Given the description of an element on the screen output the (x, y) to click on. 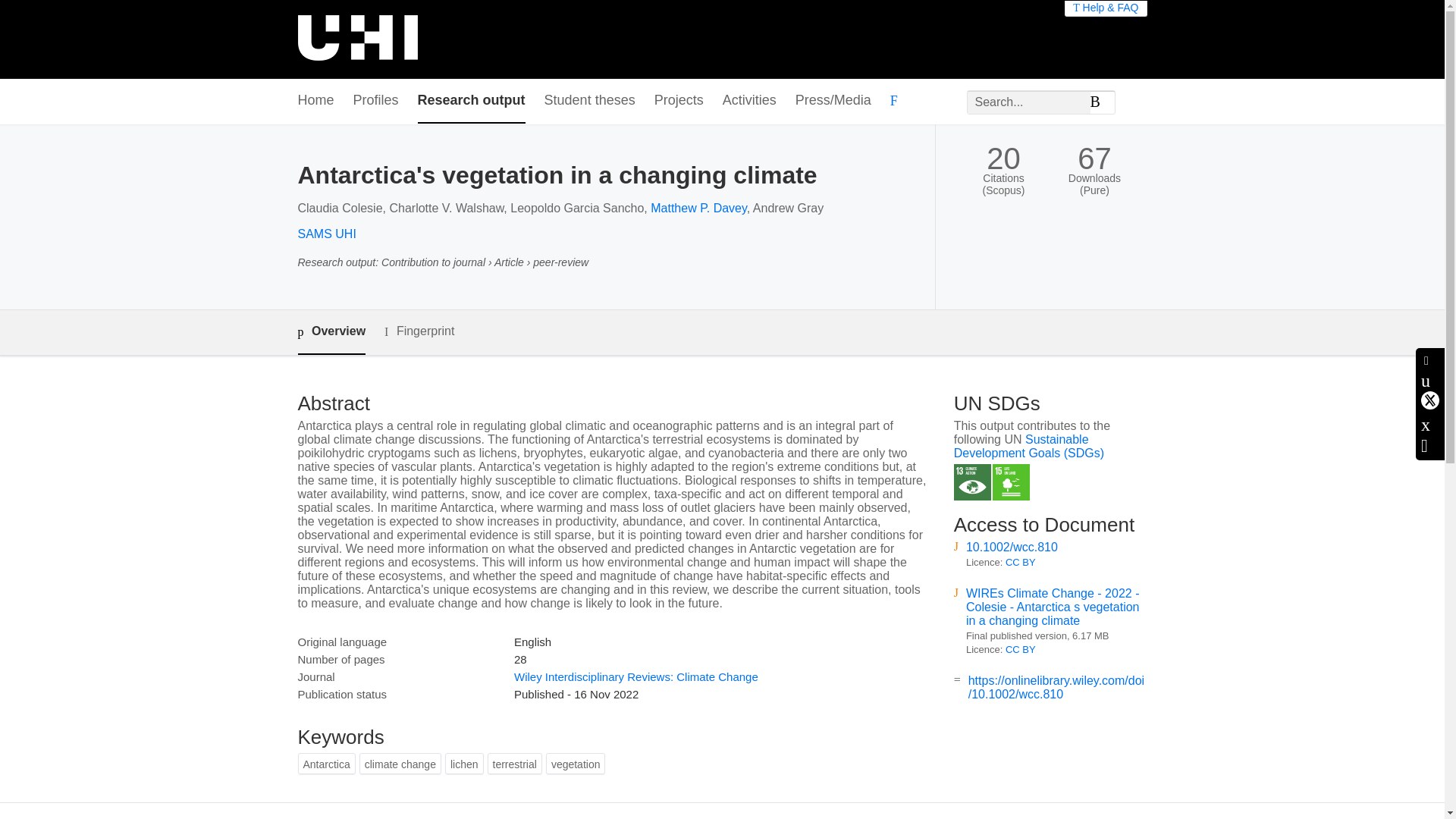
SAMS UHI (326, 233)
Projects (678, 100)
Wiley Interdisciplinary Reviews: Climate Change (635, 676)
Activities (749, 100)
University of the Highlands and Islands Home (356, 39)
SDG 13 - Climate Action (972, 482)
Fingerprint (419, 331)
Overview (331, 332)
